Given the description of an element on the screen output the (x, y) to click on. 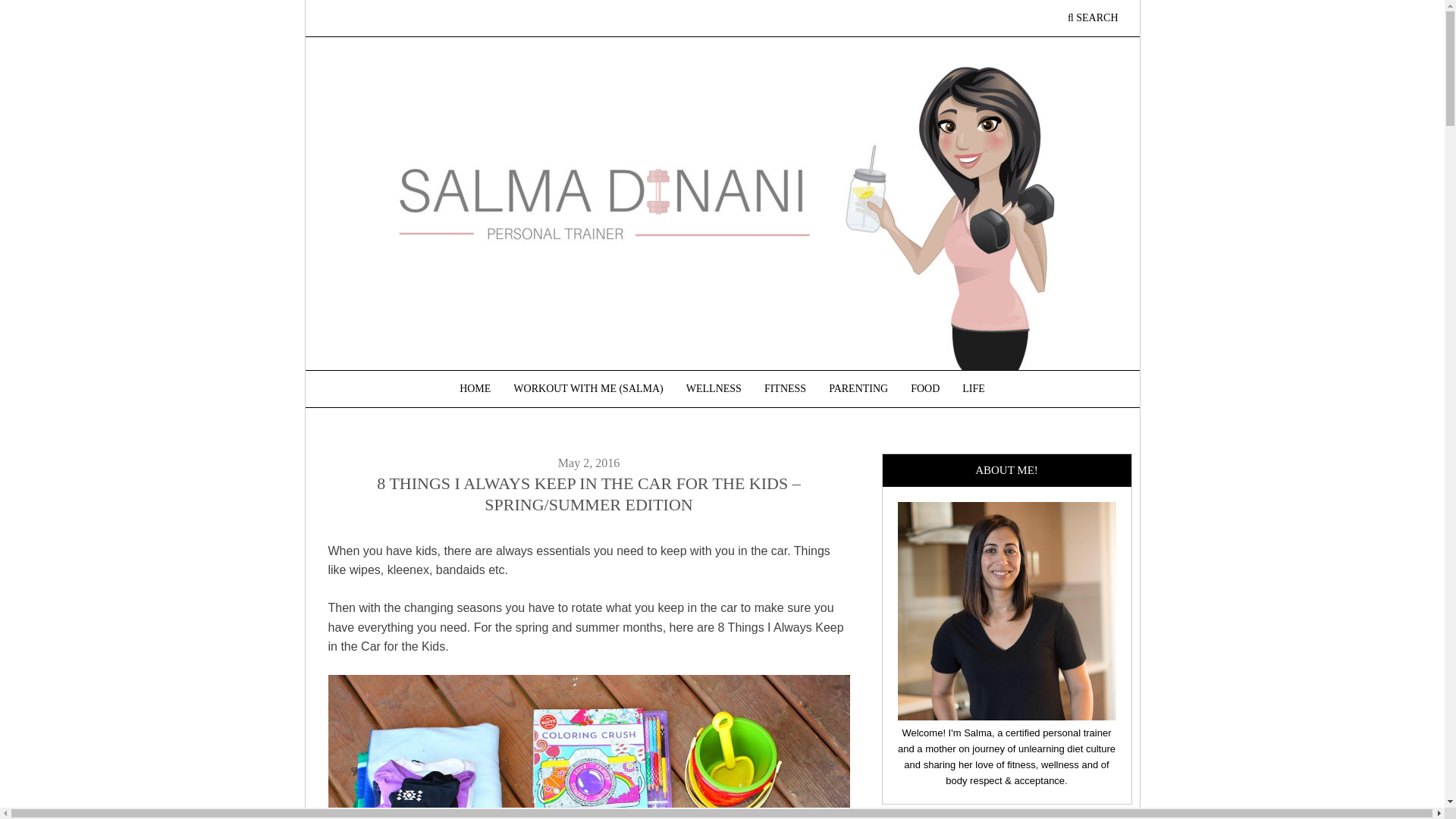
PARENTING (857, 389)
HOME (475, 389)
FOOD (924, 389)
LIFE (972, 389)
FITNESS (784, 389)
SEARCH (1092, 18)
WELLNESS (713, 389)
